Given the description of an element on the screen output the (x, y) to click on. 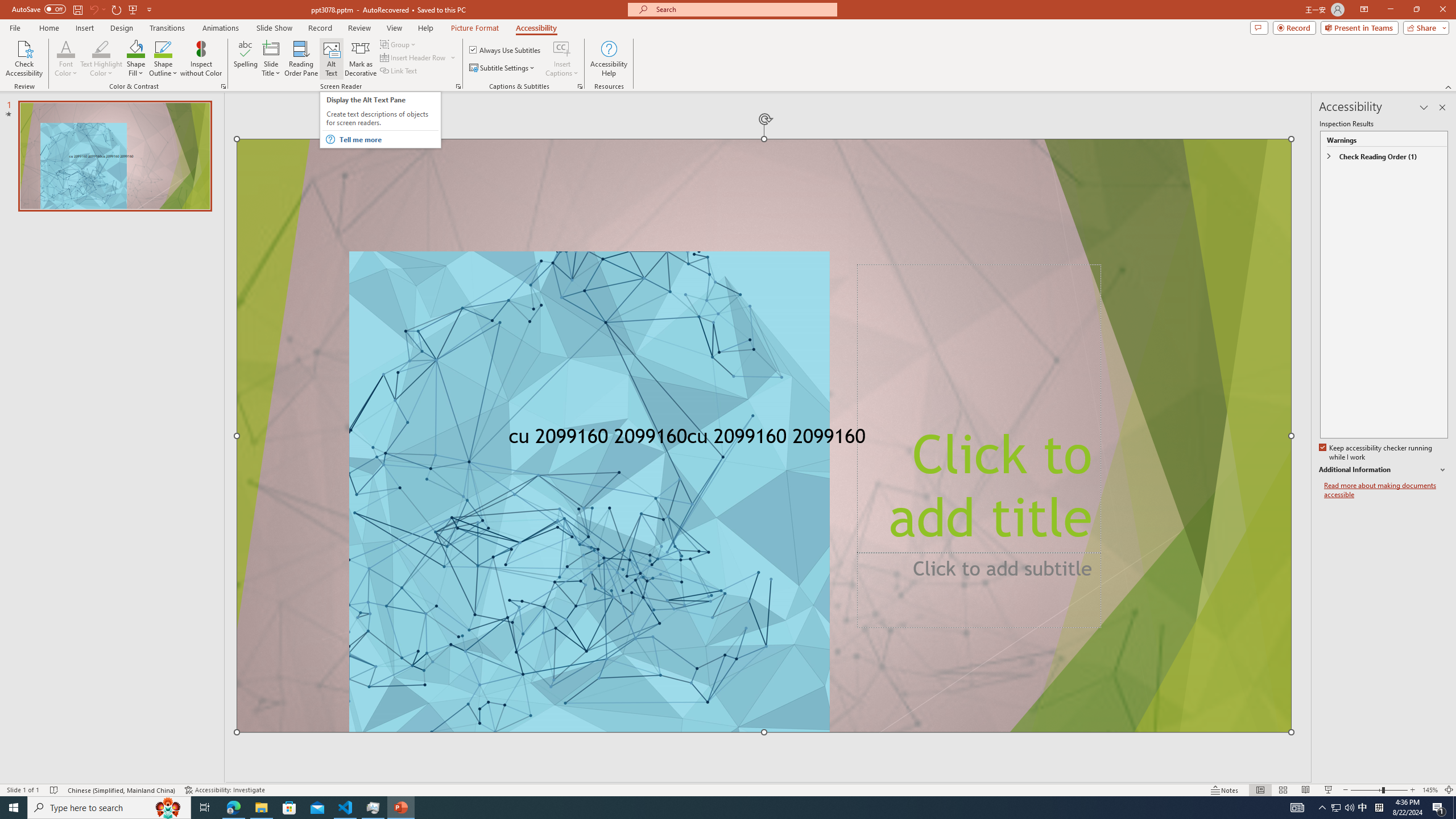
Zoom 145% (1430, 790)
Color & Contrast (223, 85)
